Given the description of an element on the screen output the (x, y) to click on. 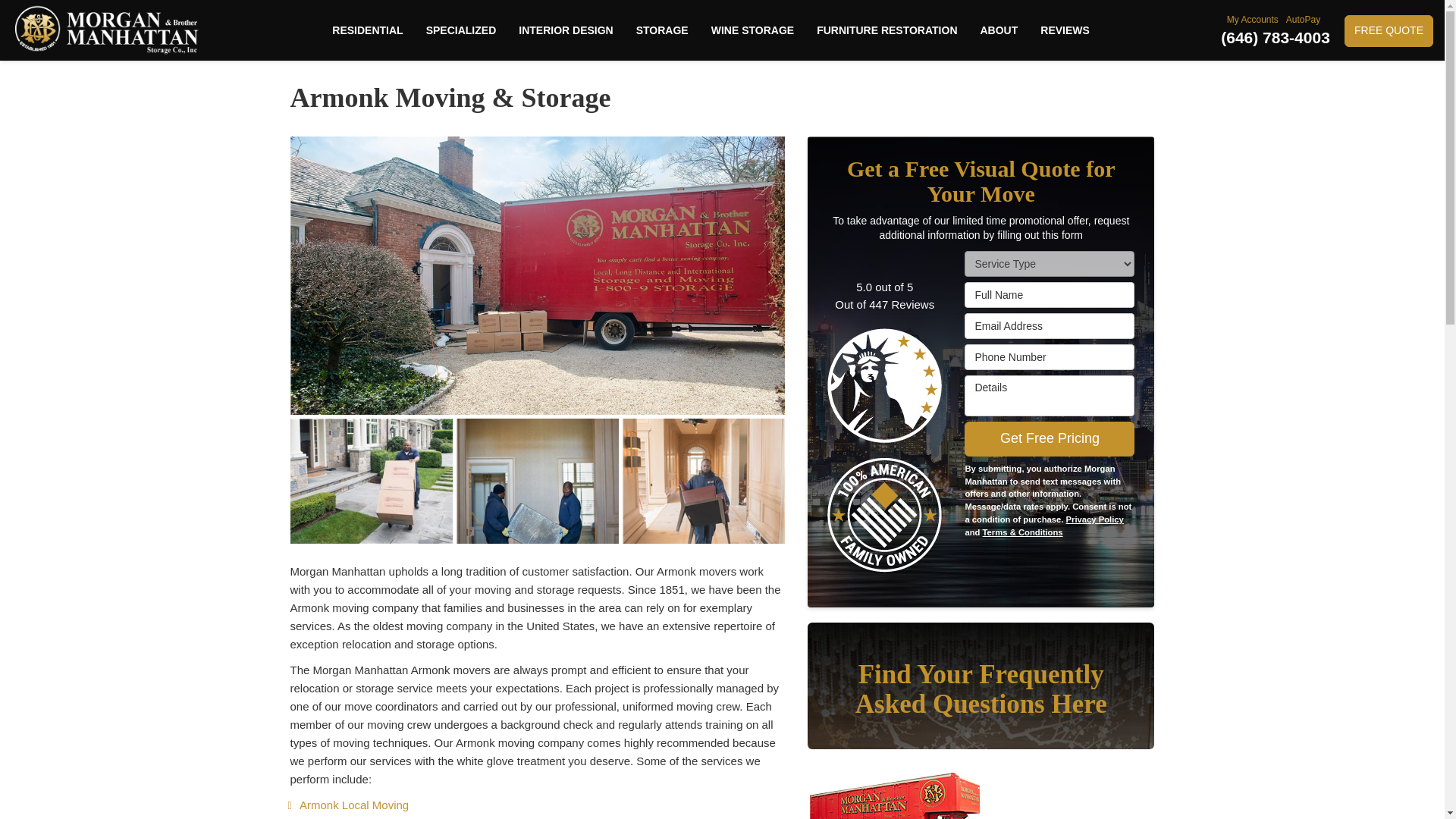
STORAGE (662, 30)
AutoPay (1304, 19)
REVIEWS (1064, 30)
ABOUT (999, 30)
FREE QUOTE (1387, 30)
INTERIOR DESIGN (565, 30)
My Accounts (1254, 19)
FURNITURE RESTORATION (886, 30)
RESIDENTIAL (366, 30)
WINE STORAGE (752, 30)
SPECIALIZED (461, 30)
FREE QUOTE (1387, 30)
